Given the description of an element on the screen output the (x, y) to click on. 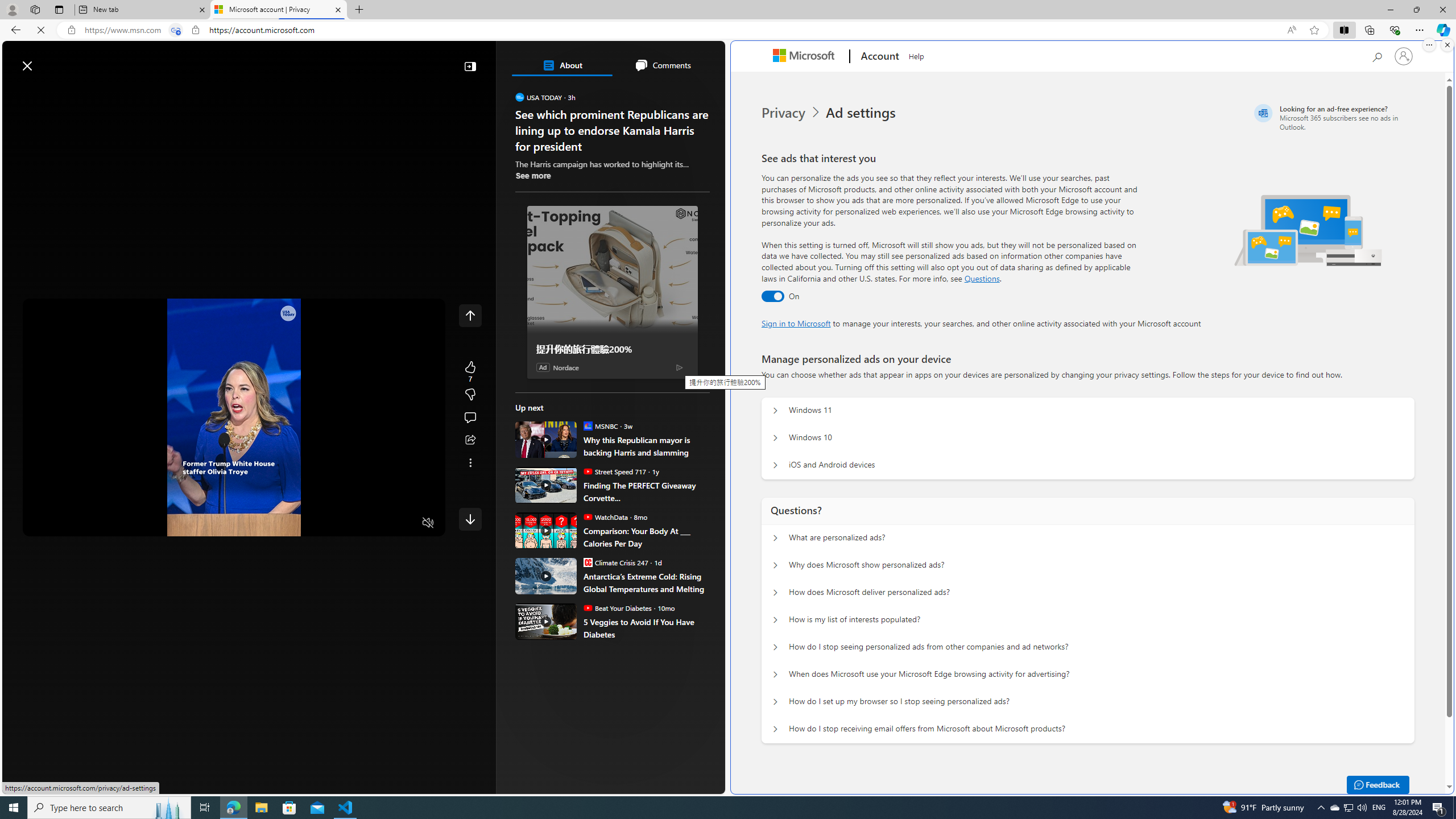
More like this7Fewer like thisStart the conversation (469, 394)
Class: control icon-only (469, 315)
Comparison: Your Body At ___ Calories Per Day (646, 537)
Street Speed 717 (587, 470)
Class: control (469, 518)
